Given the description of an element on the screen output the (x, y) to click on. 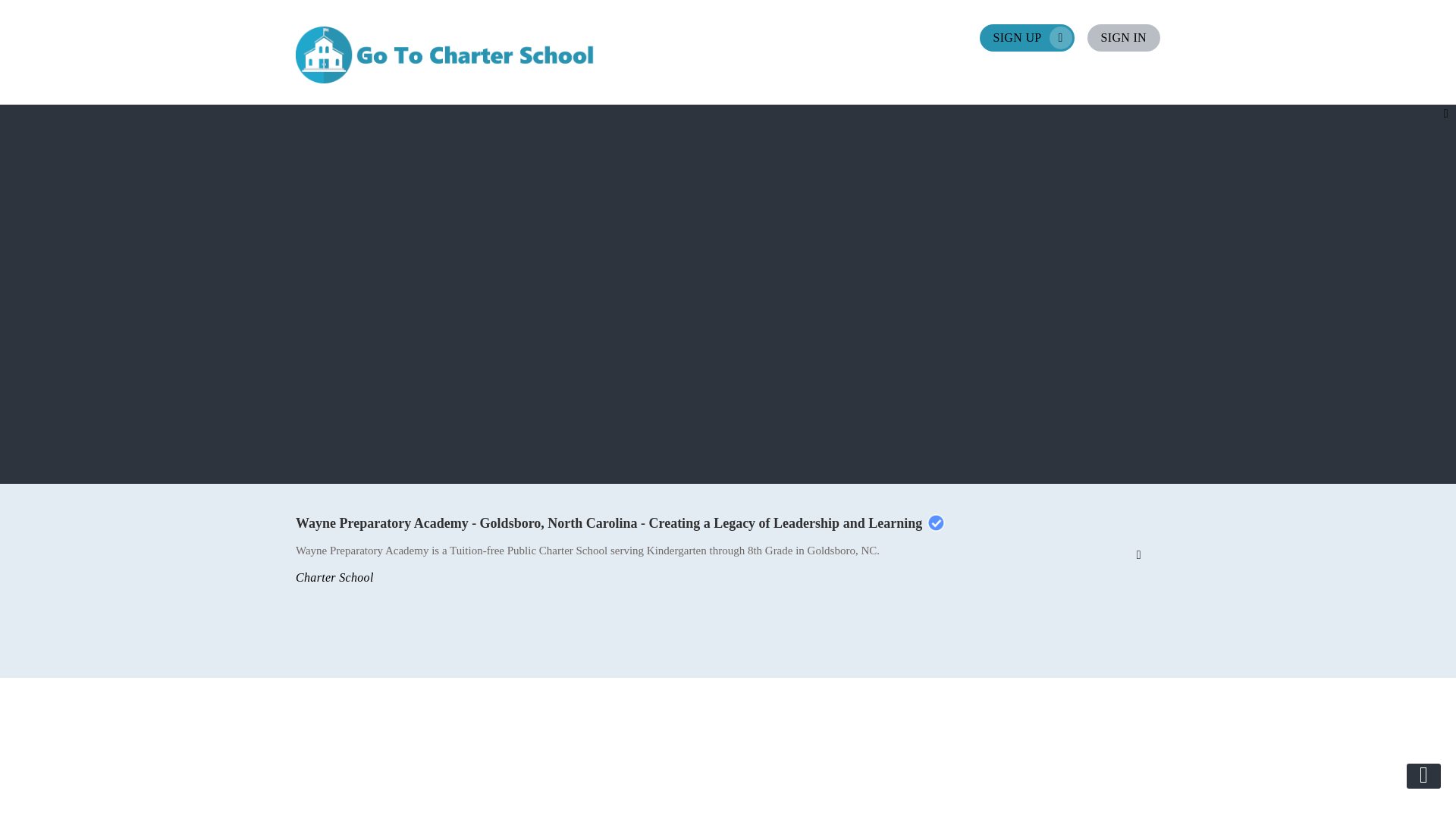
Charter School (334, 576)
SIGN UP (1026, 37)
Sign in (1123, 37)
SIGN IN (1123, 37)
Sign up (1026, 37)
